Given the description of an element on the screen output the (x, y) to click on. 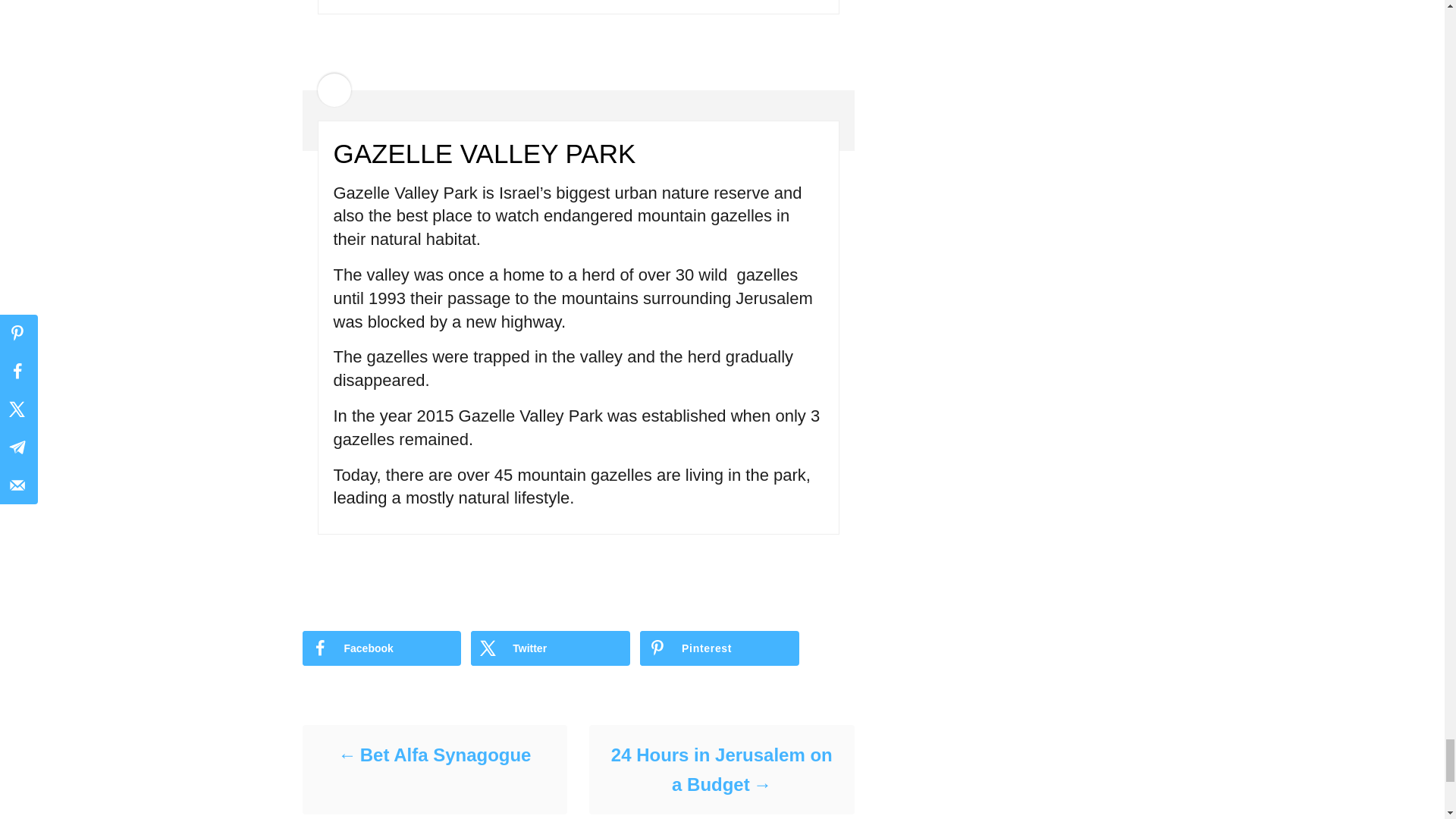
Share on Facebook (381, 647)
Share on X (550, 647)
Save to Pinterest (719, 647)
